Given the description of an element on the screen output the (x, y) to click on. 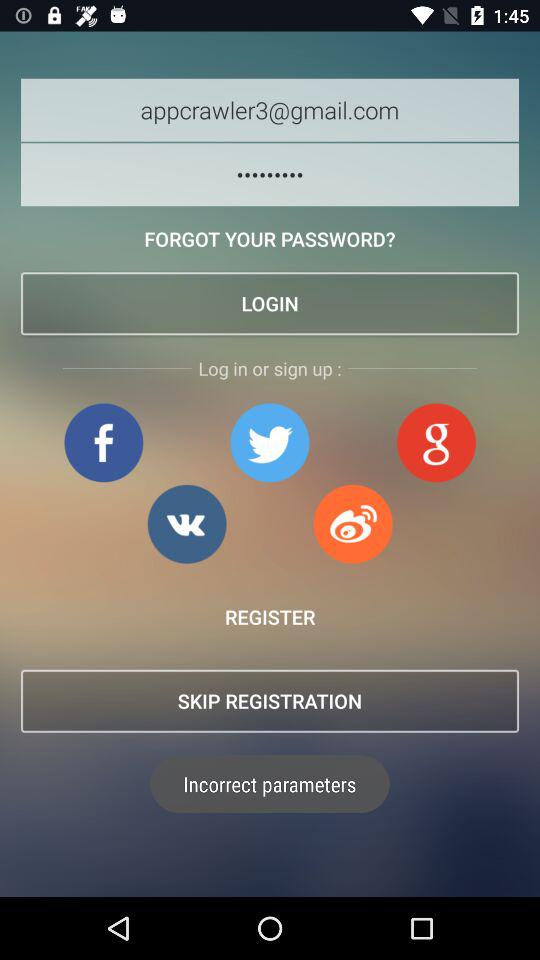
google simple page (436, 442)
